Given the description of an element on the screen output the (x, y) to click on. 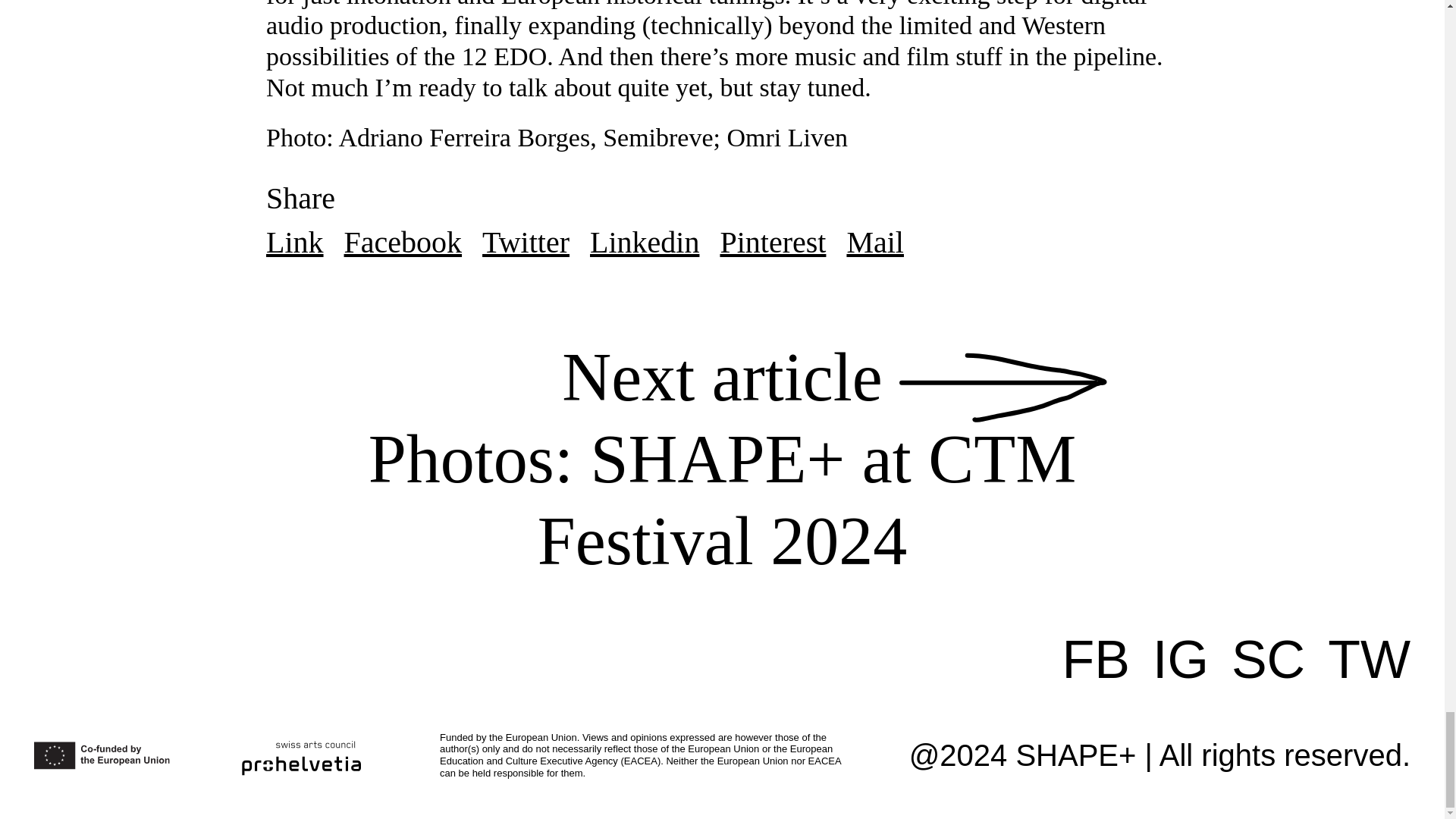
Linkedin (643, 242)
TW (1368, 659)
Facebook (403, 242)
FB (1095, 659)
Twitter (525, 242)
Link (294, 242)
Pinterest (772, 242)
SC (1267, 659)
Mail (874, 242)
